Given the description of an element on the screen output the (x, y) to click on. 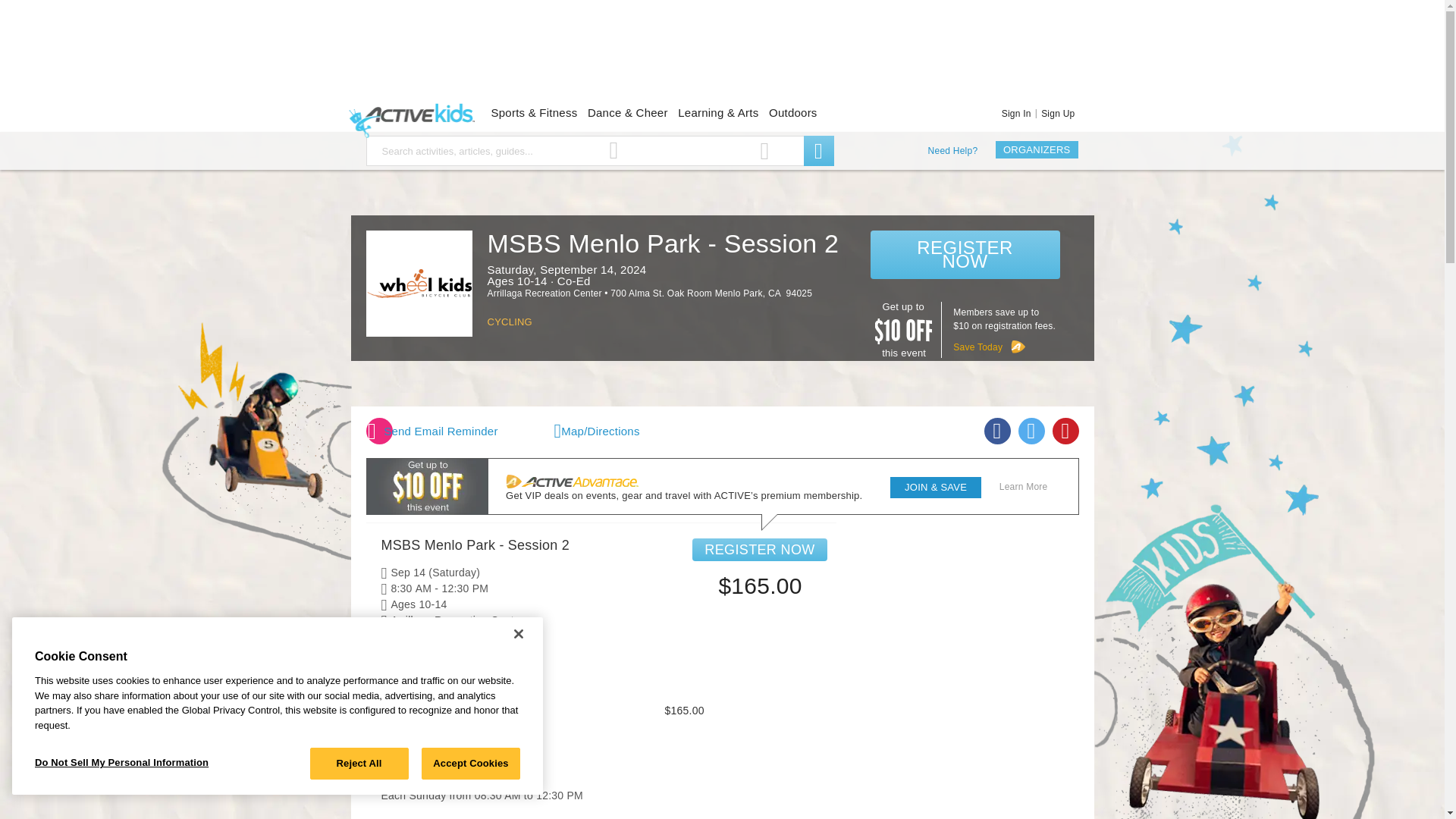
Share on Pinterest (1065, 430)
Share on Twitter (1030, 430)
Share on Facebook (997, 430)
Learn More (978, 347)
3rd party ad content (721, 53)
